Given the description of an element on the screen output the (x, y) to click on. 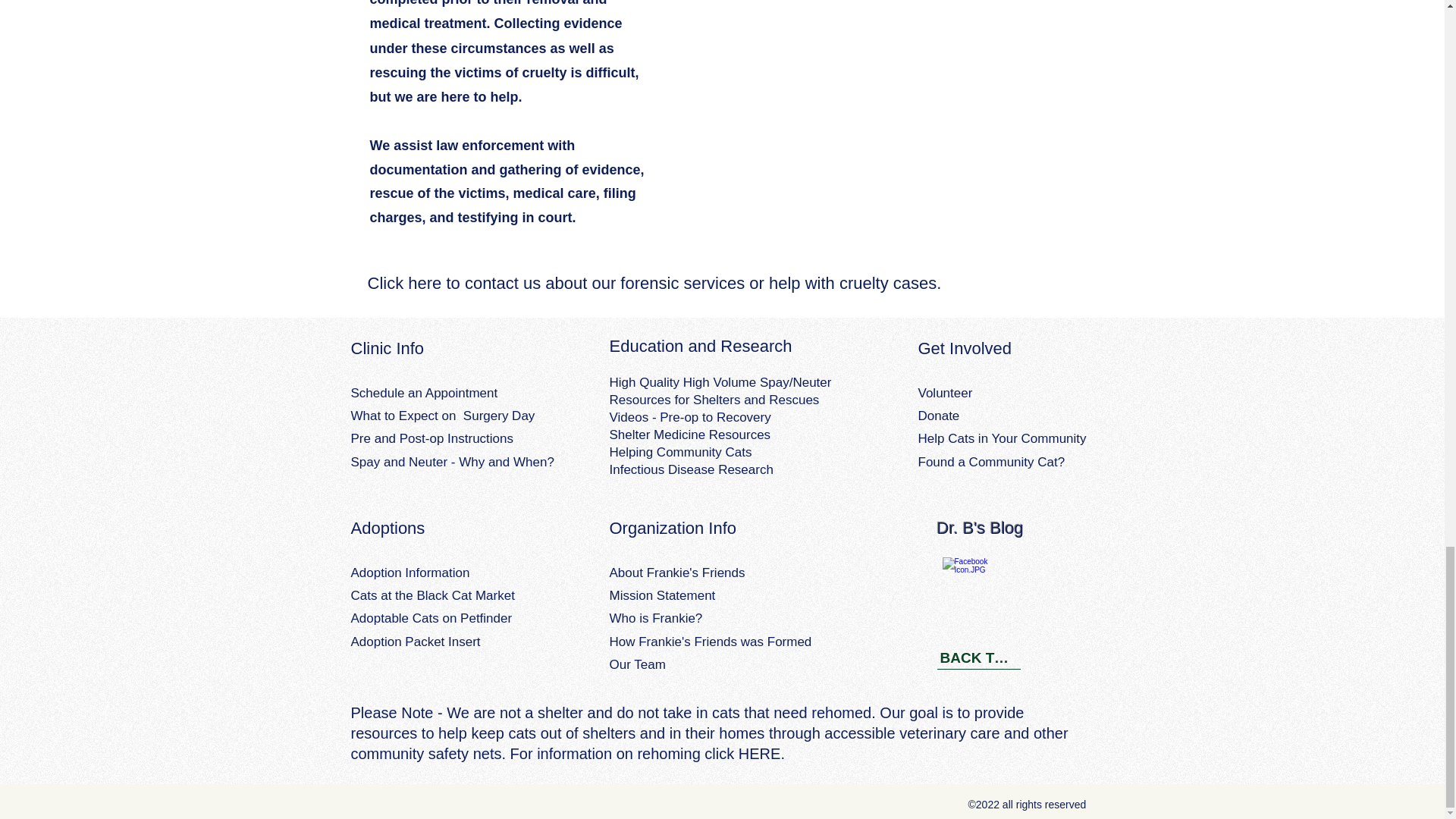
Adoptable Cats on Petfinder (431, 617)
Resources for Shelters and Rescues (714, 400)
Found a Community Cat? (990, 462)
Help Cats in Your Community (1001, 438)
How Frankie's Friends was Formed (711, 641)
here (424, 282)
Spay and Neuter - Why and When? (451, 462)
Cats at the Black Cat Market (431, 595)
Donate (938, 415)
Adoption Packet Insert (415, 641)
